Given the description of an element on the screen output the (x, y) to click on. 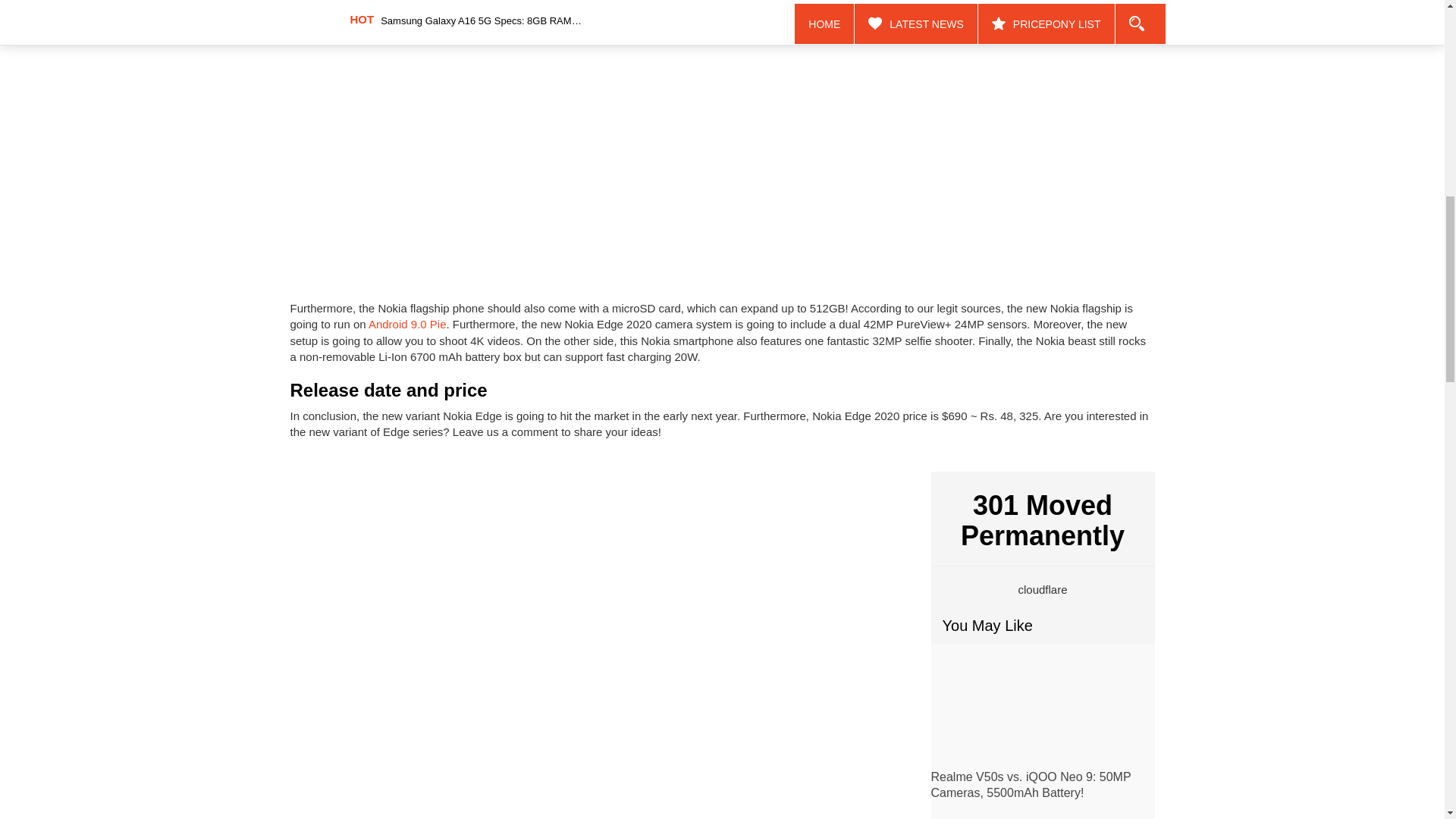
Android 9.0 Pie (407, 323)
Realme V50s vs. iQOO Neo 9: 50MP Cameras, 5500mAh Battery! (1031, 784)
Xiaomi Redmi A2 Specs: 5000mAh Battery, Helio G36 SoC! (1042, 814)
Realme V50s vs. iQOO Neo 9: 50MP Cameras, 5500mAh Battery! (1042, 709)
Realme V50s vs. iQOO Neo 9: 50MP Cameras, 5500mAh Battery! (1031, 784)
